Given the description of an element on the screen output the (x, y) to click on. 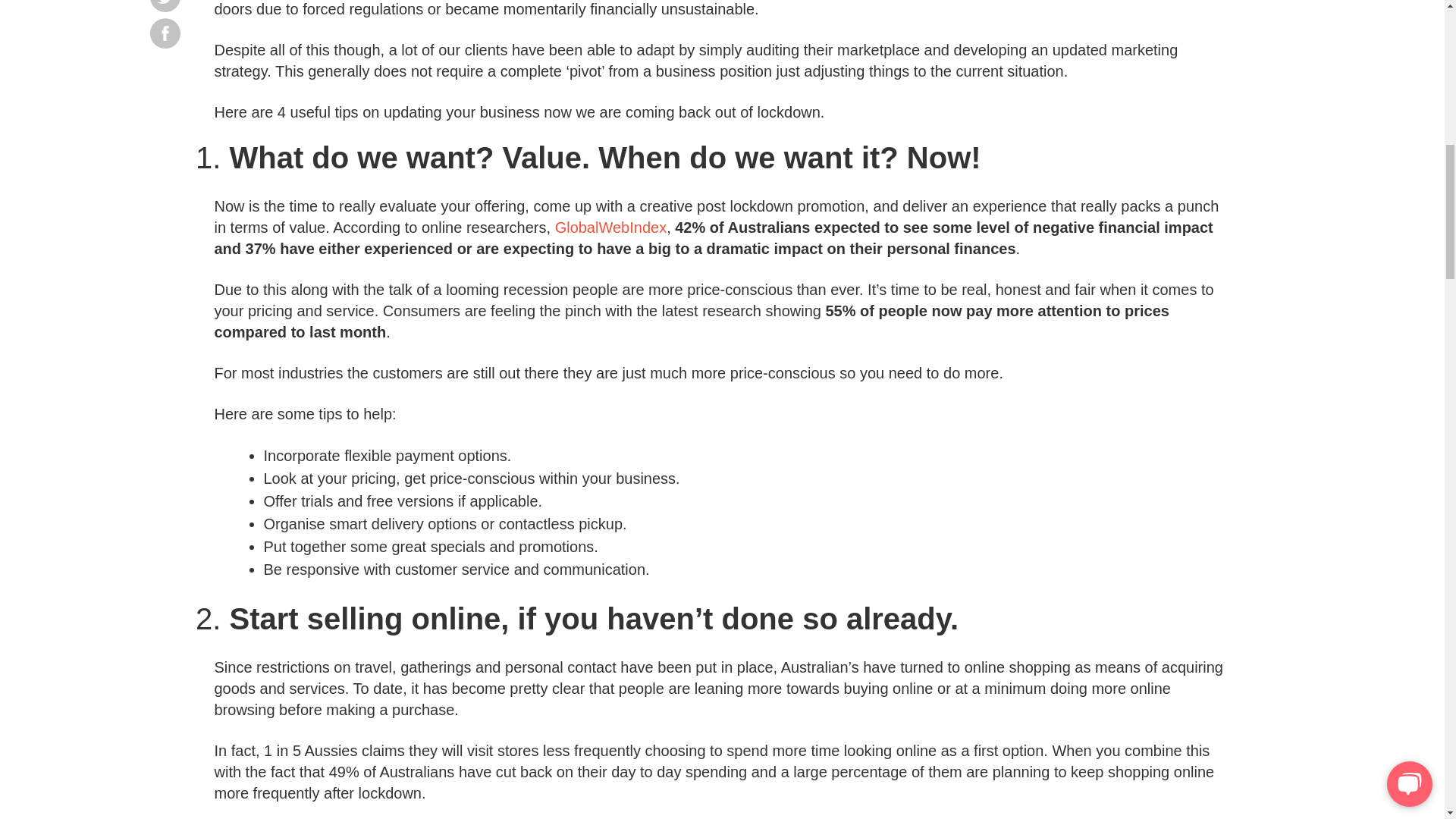
 Share on Facebook (164, 33)
 Share on Twitter (164, 6)
GlobalWebIndex (610, 227)
